Given the description of an element on the screen output the (x, y) to click on. 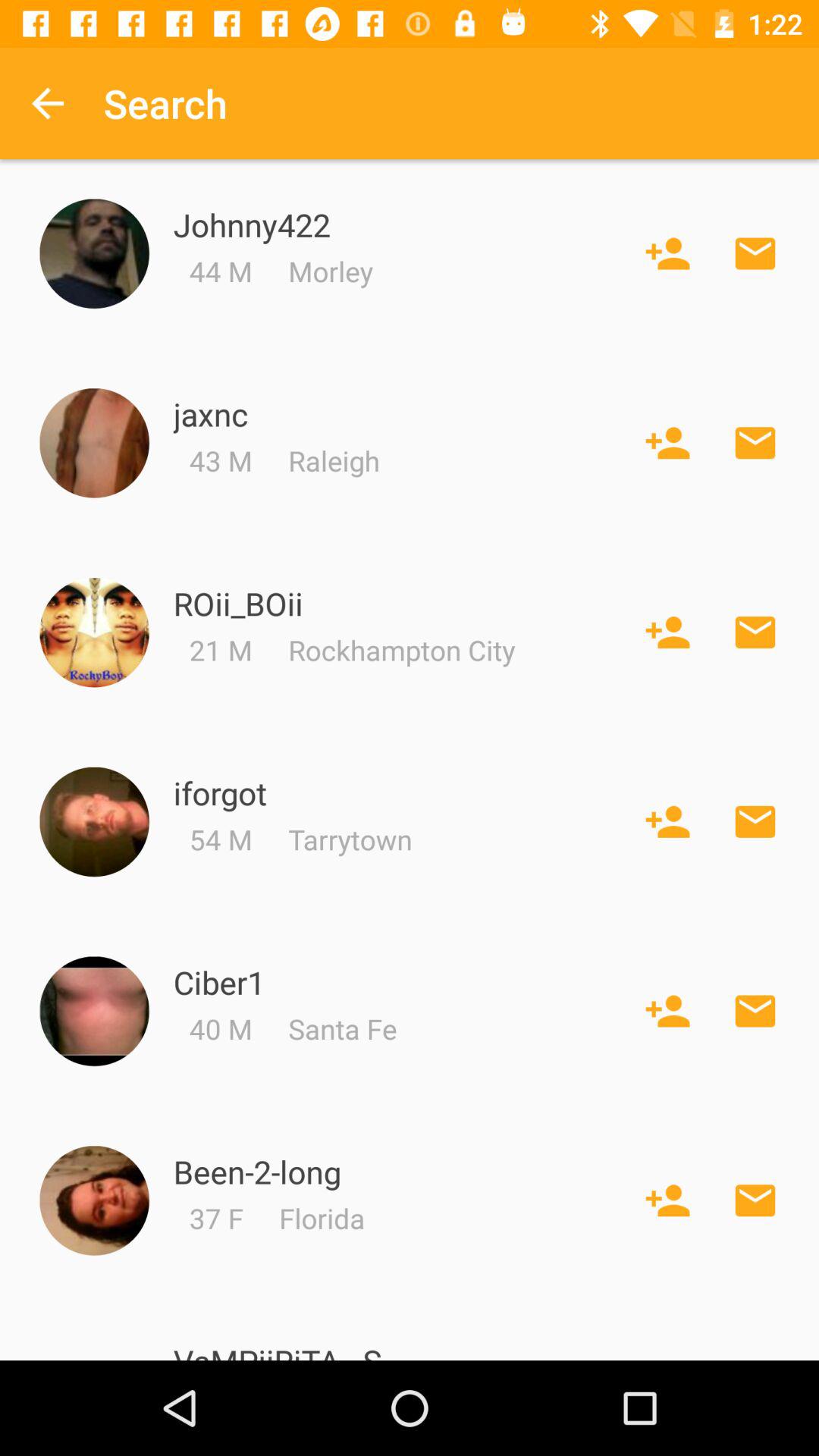
been_2_long 's picture (94, 1200)
